Given the description of an element on the screen output the (x, y) to click on. 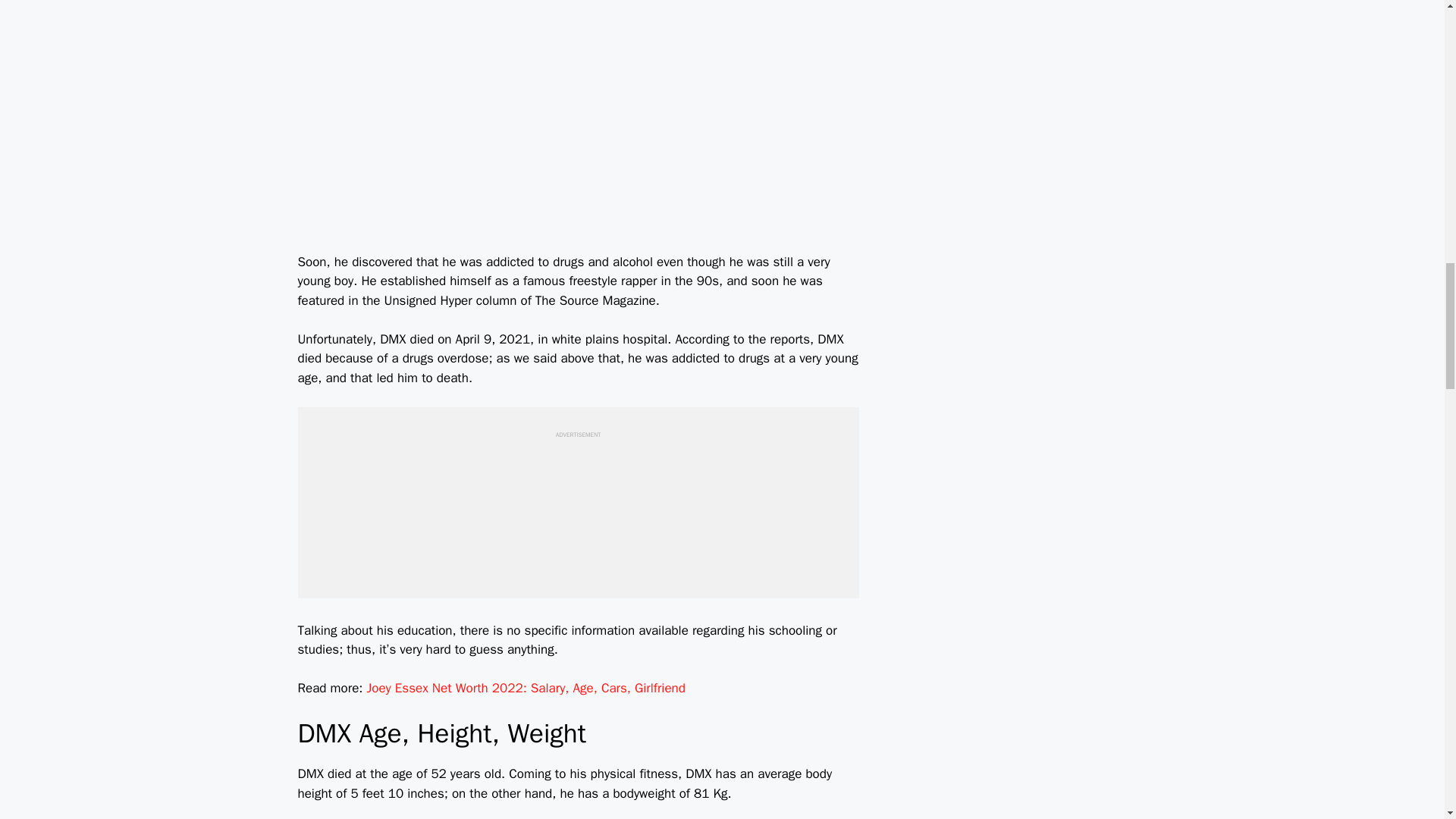
Joey Essex Net Worth 2022: Salary, Age, Cars, Girlfriend (525, 688)
Advertisement (577, 506)
